Given the description of an element on the screen output the (x, y) to click on. 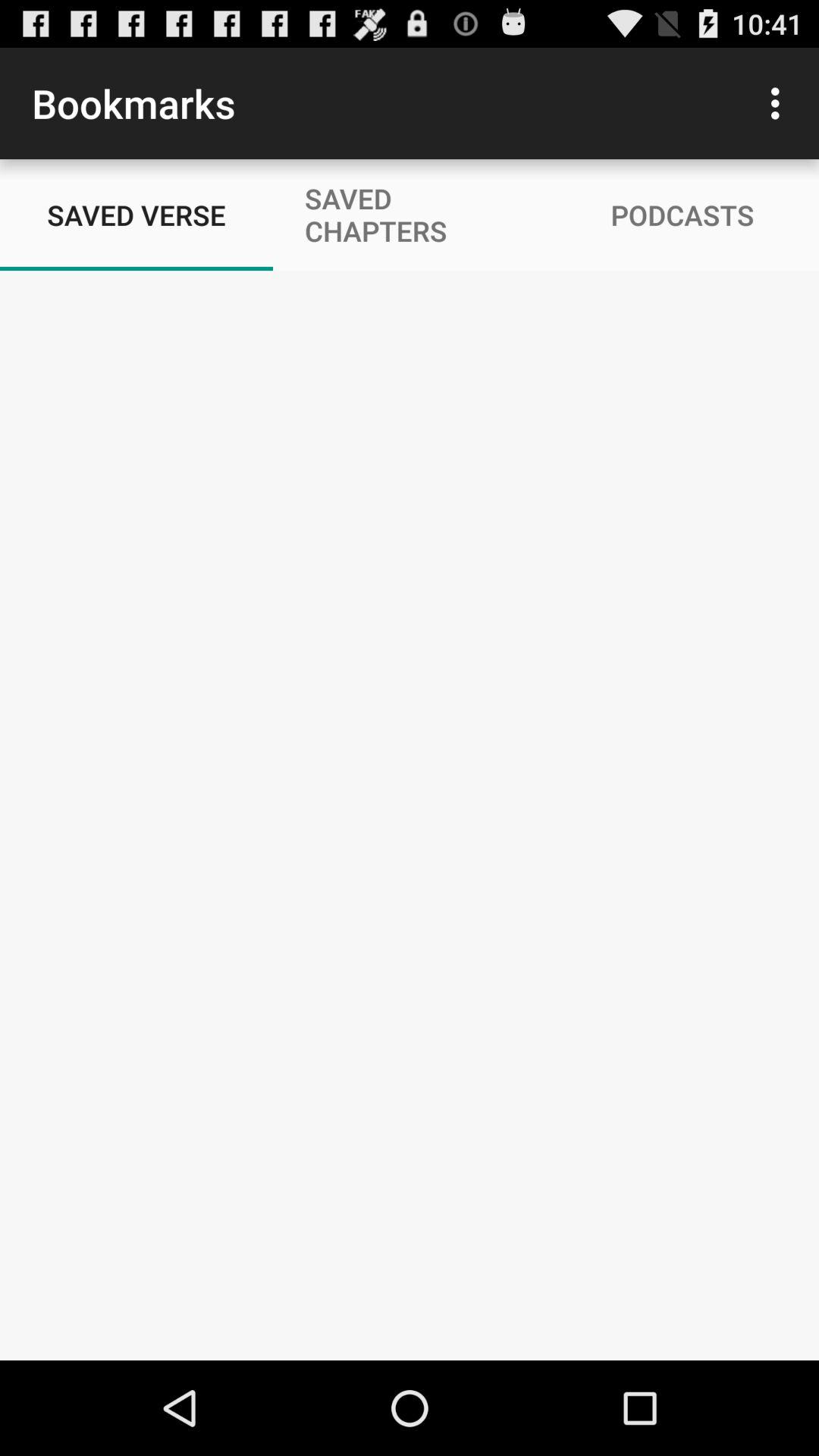
tap the icon below saved verse item (409, 815)
